Given the description of an element on the screen output the (x, y) to click on. 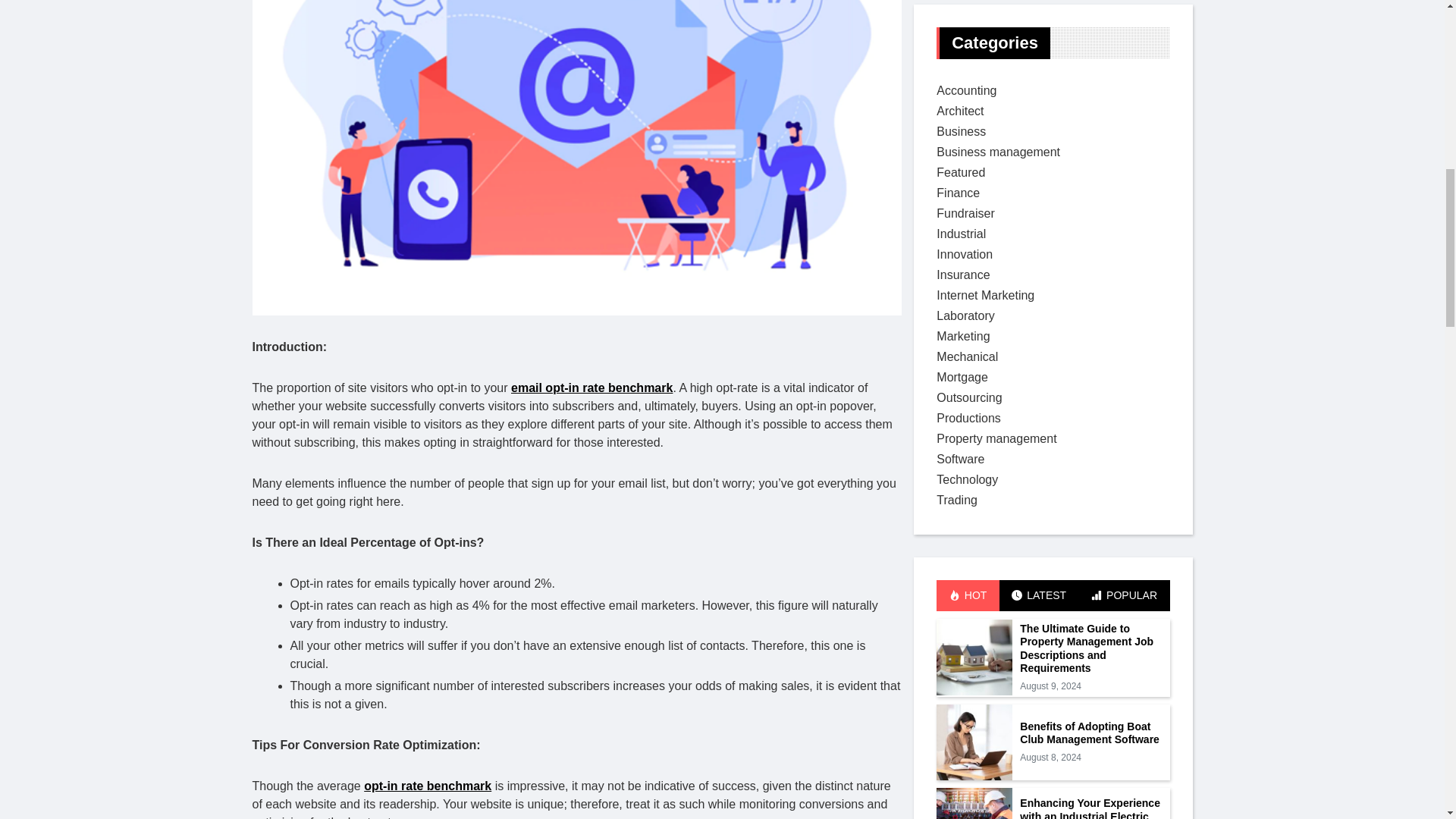
opt-in rate benchmark (428, 427)
email opt-in rate benchmark (591, 29)
Accounting (965, 67)
Architect (960, 88)
